Given the description of an element on the screen output the (x, y) to click on. 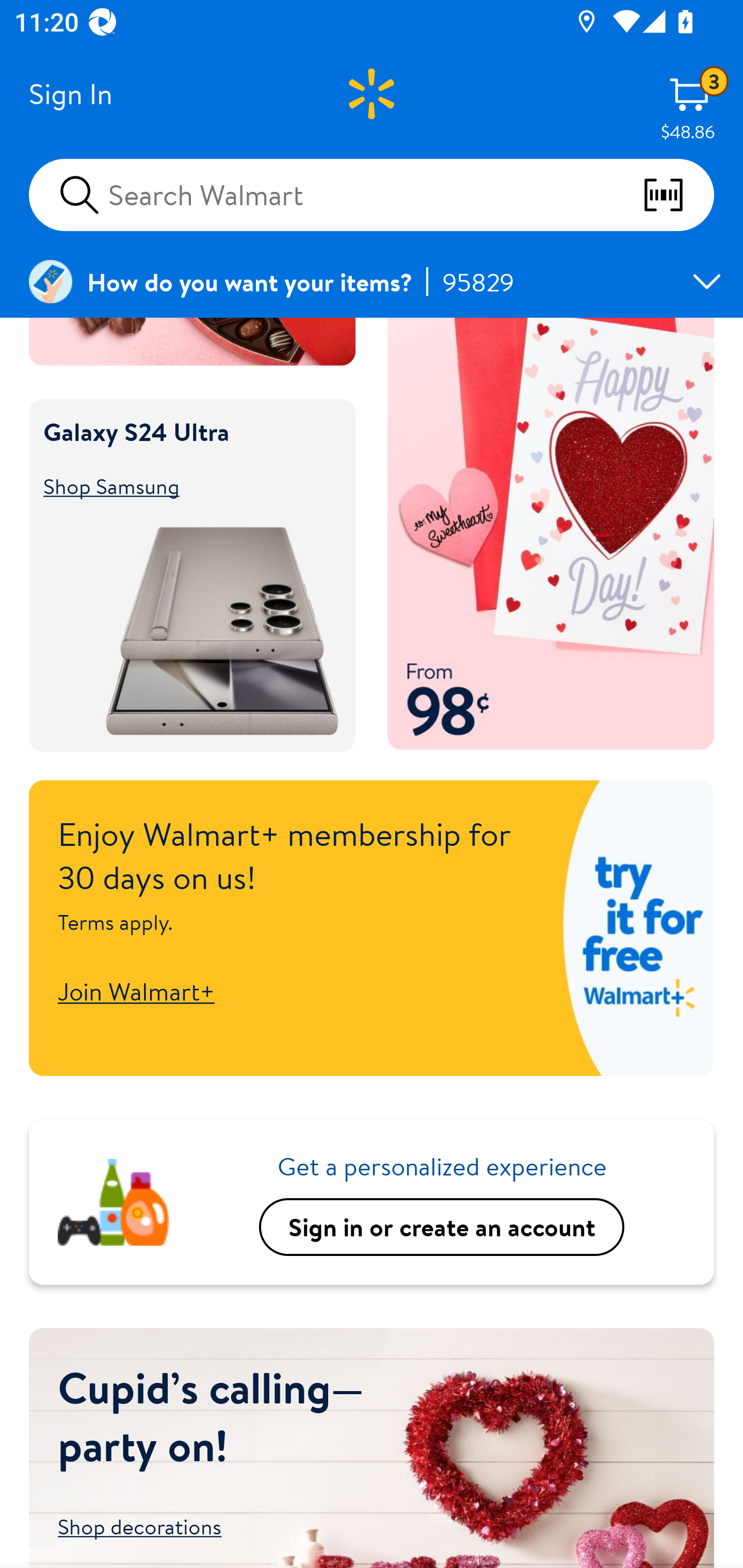
Sign In (70, 93)
Search Walmart scan barcodes qr codes and more (371, 194)
scan barcodes qr codes and more (677, 195)
Say it from the heart  Shop cards Shop cards (550, 533)
Shop Samsung Shop Samsung Galaxy S24 Ultra (183, 486)
Sign in or create an account (441, 1226)
